Given the description of an element on the screen output the (x, y) to click on. 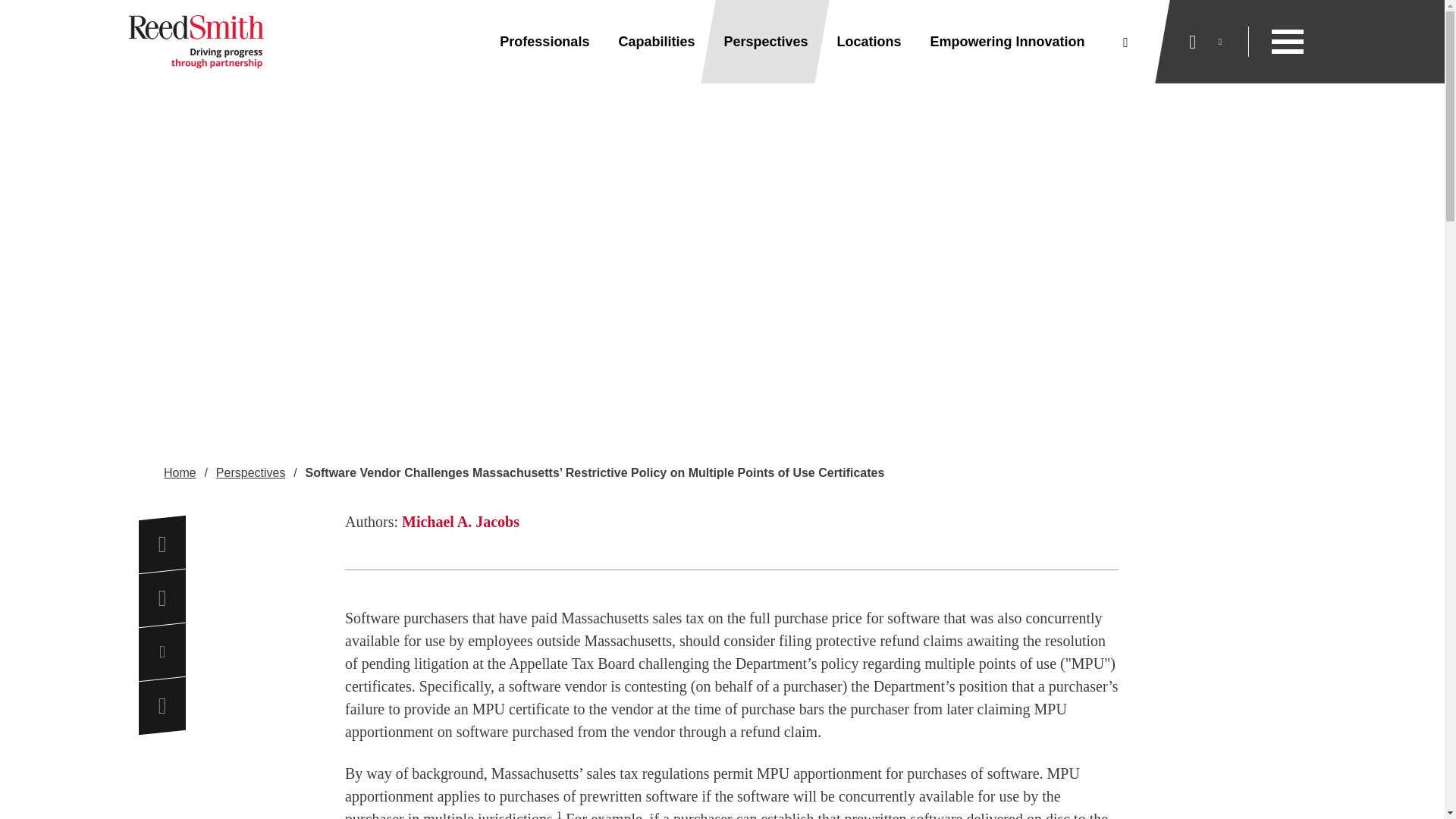
Authors: Michael A. Jacobs (731, 521)
Authors: Michael A. Jacobs (731, 539)
Capabilities (656, 41)
Professionals (544, 41)
